Given the description of an element on the screen output the (x, y) to click on. 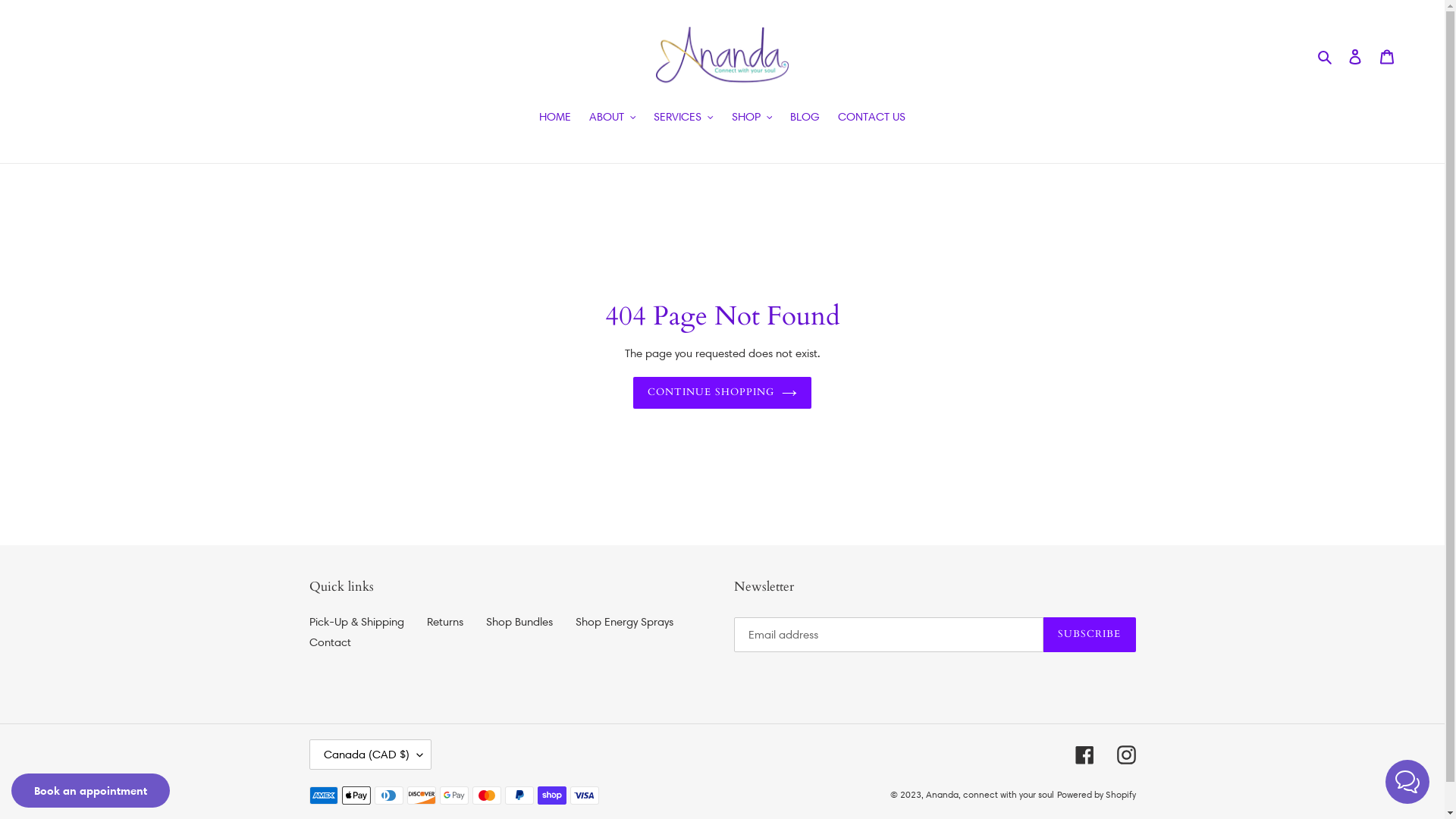
SERVICES Element type: text (683, 117)
Shop Energy Sprays Element type: text (623, 621)
Search Element type: text (1325, 56)
Returns Element type: text (444, 621)
Ananda, connect with your soul Element type: text (989, 794)
Pick-Up & Shipping Element type: text (356, 621)
SHOP Element type: text (752, 117)
CONTINUE SHOPPING Element type: text (722, 392)
BLOG Element type: text (804, 117)
ABOUT Element type: text (612, 117)
Cart Element type: text (1386, 55)
Contact Element type: text (330, 642)
Canada (CAD $) Element type: text (370, 754)
Powered by Shopify Element type: text (1096, 794)
Book an appointment Element type: text (90, 790)
CONTACT US Element type: text (871, 117)
SUBSCRIBE Element type: text (1089, 634)
Instagram Element type: text (1125, 754)
Facebook Element type: text (1084, 754)
HOME Element type: text (554, 117)
Log in Element type: text (1355, 55)
Shop Bundles Element type: text (518, 621)
